Given the description of an element on the screen output the (x, y) to click on. 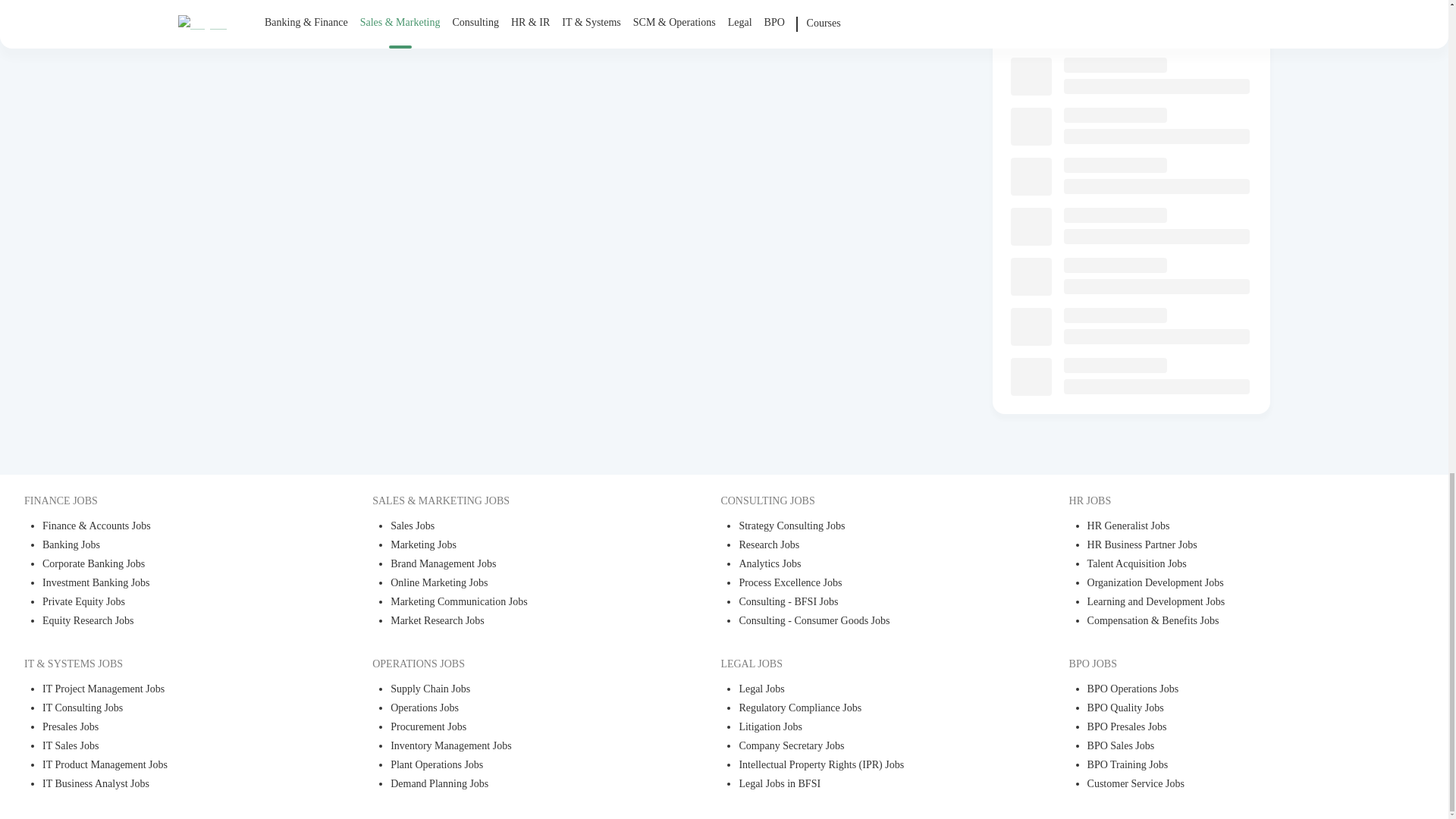
Corporate Banking Jobs (173, 565)
Market Research Jobs (521, 621)
Investment Banking Jobs (173, 583)
Private Equity Jobs (173, 602)
Private Equity Jobs (173, 602)
Corporate Banking Jobs (173, 565)
Strategy Consulting Jobs (869, 527)
FINANCE JOBS (164, 500)
Sales Jobs (521, 527)
Consulting - Consumer Goods Jobs (869, 621)
Marketing Jobs (521, 546)
Equity Research Jobs (173, 621)
Process Excellence Jobs (869, 583)
Brand Management Jobs (521, 565)
Research Jobs (869, 546)
